Given the description of an element on the screen output the (x, y) to click on. 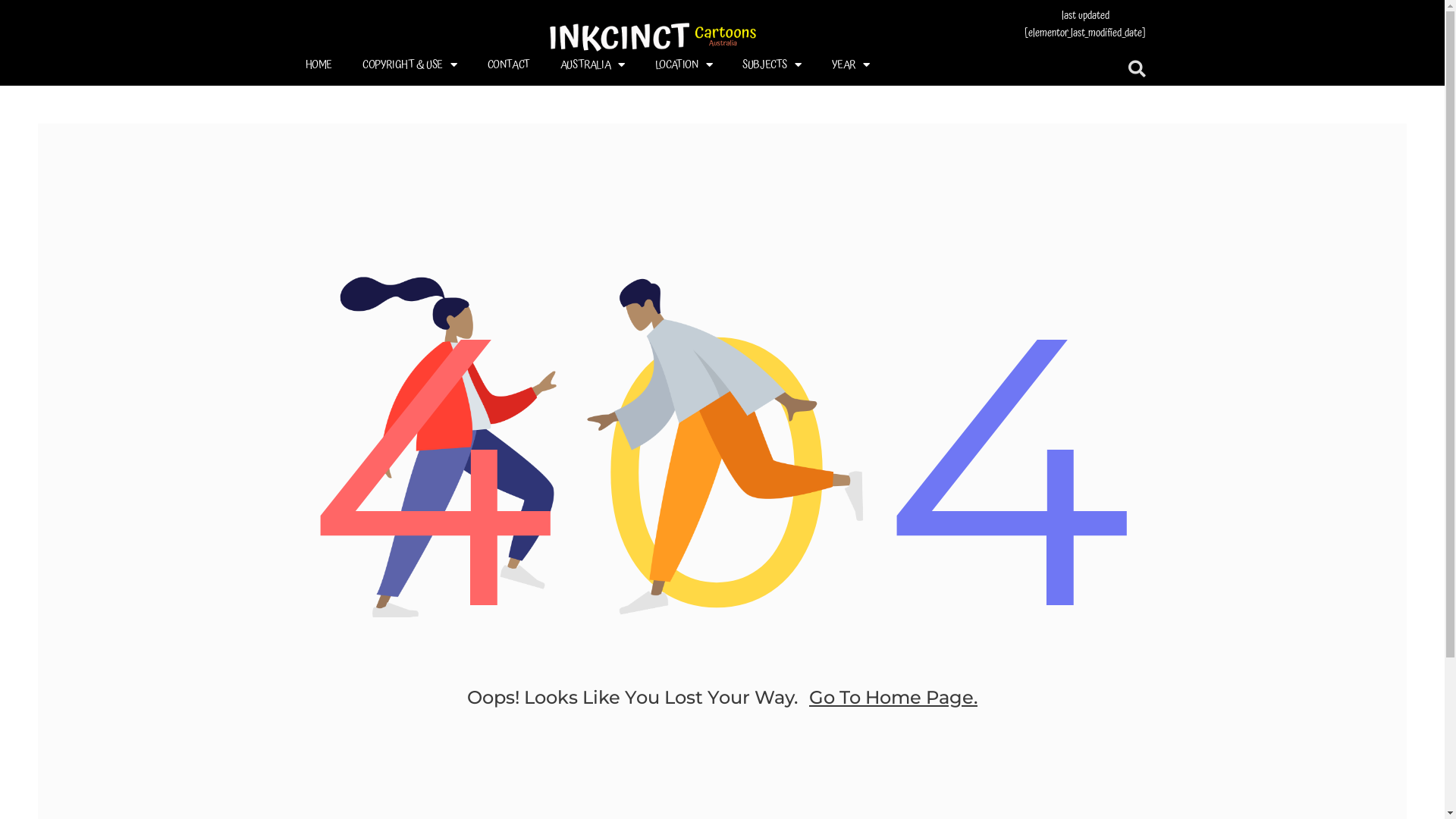
Go To Home Page. Element type: text (893, 696)
YEAR Element type: text (850, 64)
COPYRIGHT & USE Element type: text (409, 64)
LOCATION Element type: text (683, 64)
AUSTRALIA Element type: text (592, 64)
CONTACT Element type: text (508, 64)
SUBJECTS Element type: text (771, 64)
HOME Element type: text (317, 64)
